Given the description of an element on the screen output the (x, y) to click on. 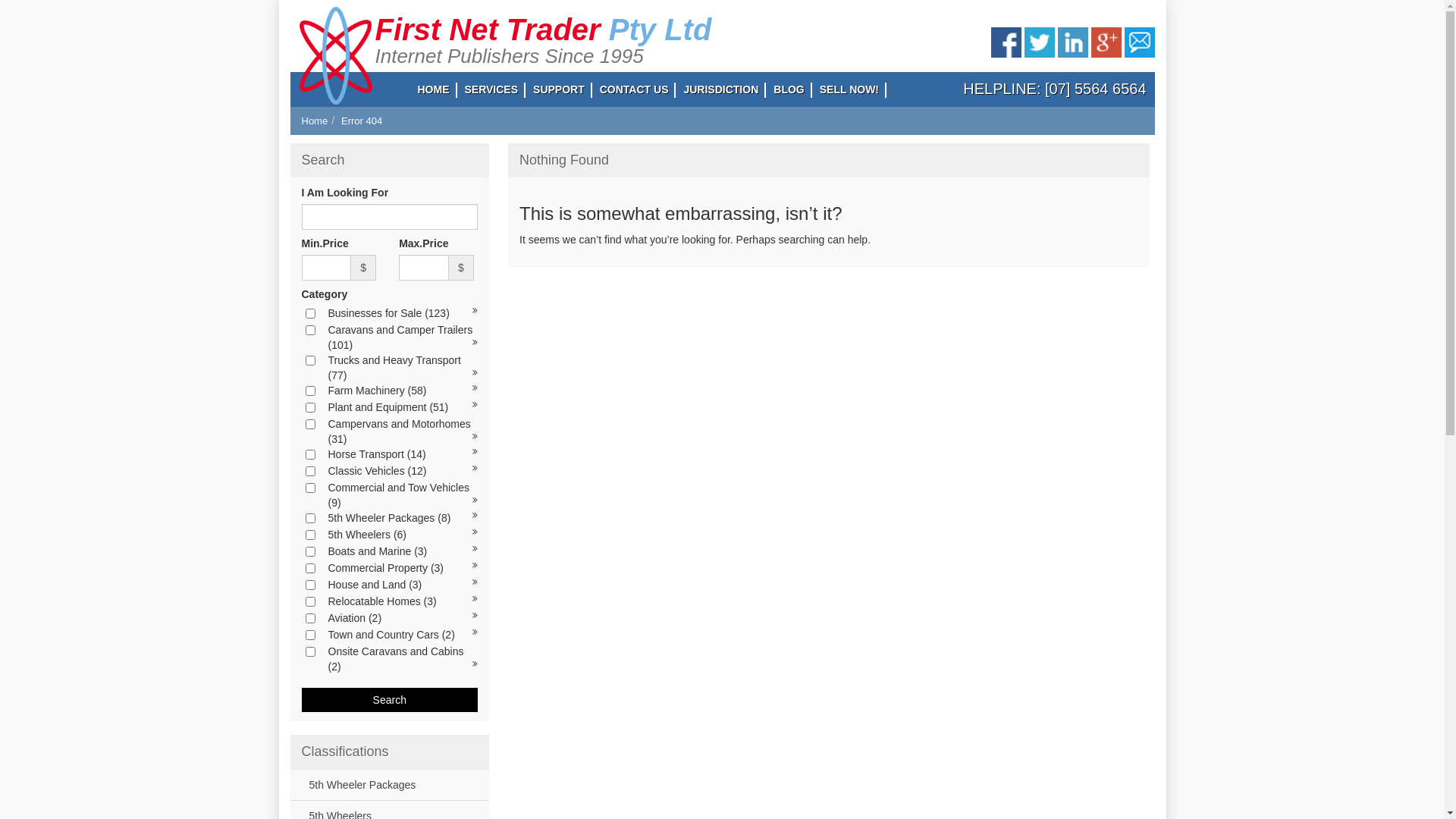
Home Element type: text (314, 120)
JURISDICTION Element type: text (720, 89)
HOME Element type: text (432, 89)
5th Wheeler Packages Element type: text (358, 784)
Error 404 Element type: text (361, 120)
CONTACT US Element type: text (634, 89)
SELL NOW! Element type: text (849, 89)
BLOG Element type: text (788, 89)
Search Element type: text (389, 699)
SUPPORT Element type: text (558, 89)
SERVICES Element type: text (490, 89)
